Given the description of an element on the screen output the (x, y) to click on. 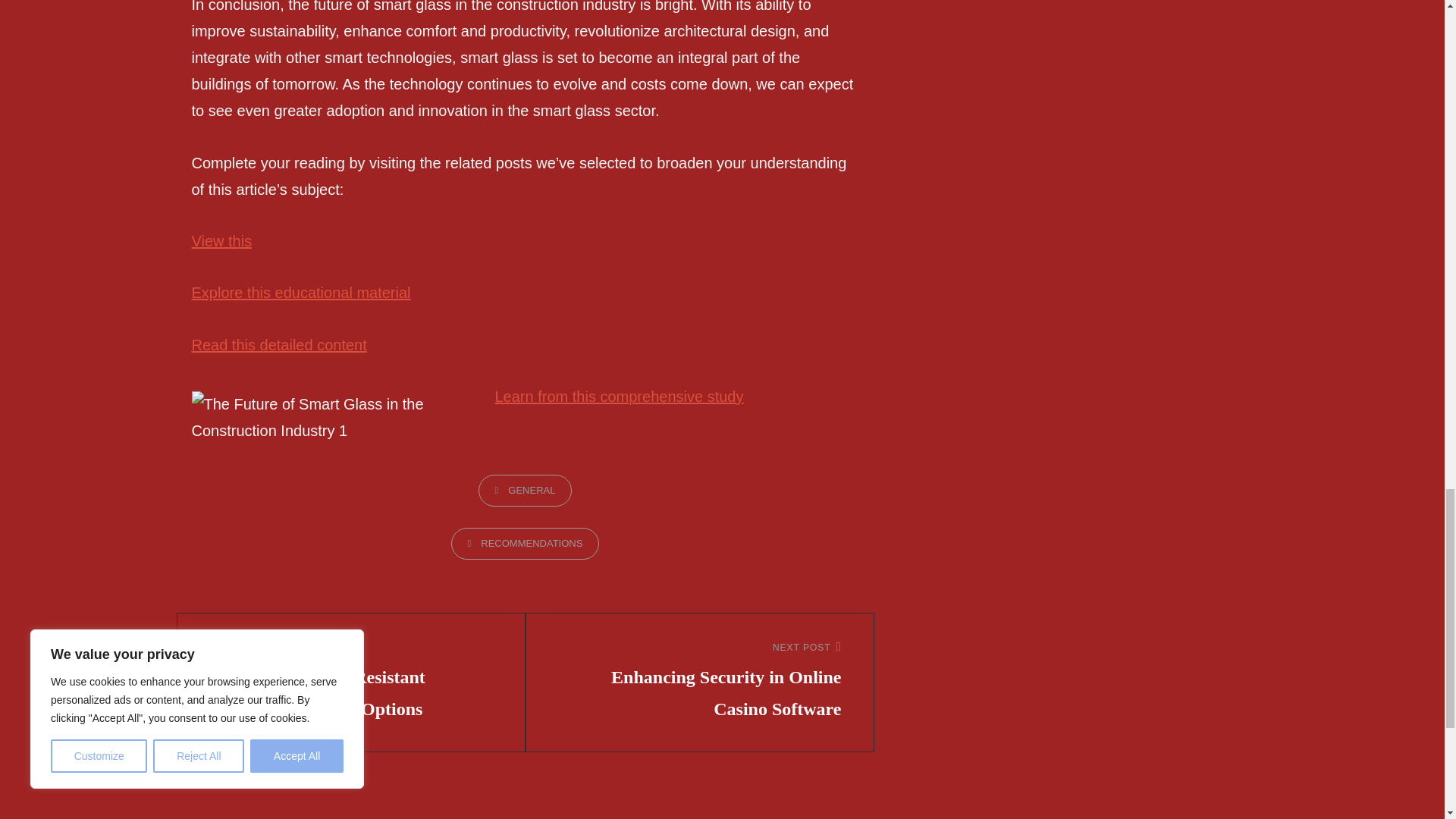
RECOMMENDATIONS (525, 543)
Explore this educational material (300, 292)
Learn from this comprehensive study (618, 396)
Read this detailed content (278, 344)
GENERAL (525, 490)
View this (220, 240)
